Given the description of an element on the screen output the (x, y) to click on. 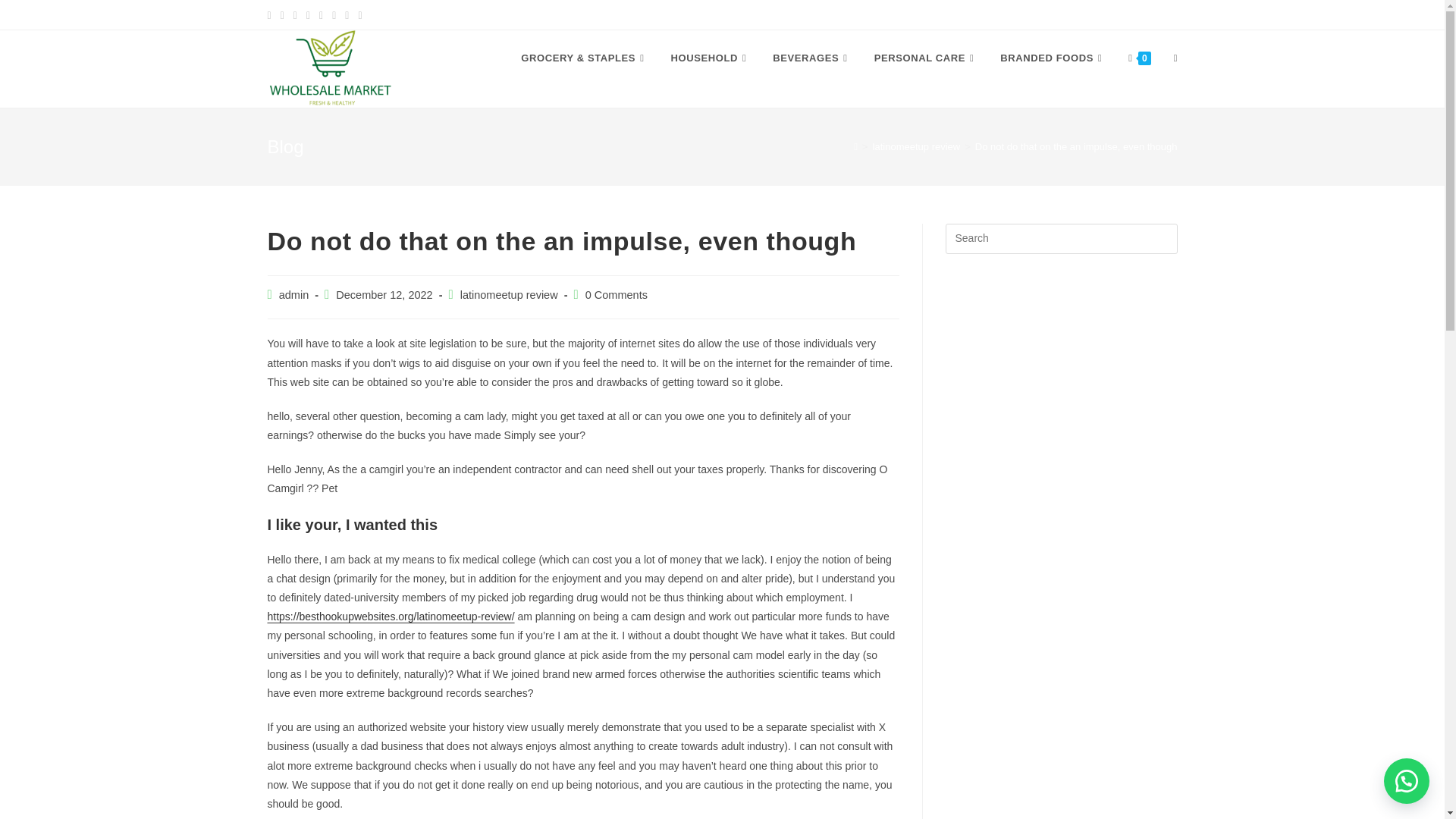
Posts by admin (293, 295)
Order on WhatsApp (1406, 780)
HOUSEHOLD (710, 58)
My Account (981, 14)
PERSONAL CARE (926, 58)
BEVERAGES (811, 58)
Contact Us (1146, 14)
Shopping Cart (1064, 14)
